Given the description of an element on the screen output the (x, y) to click on. 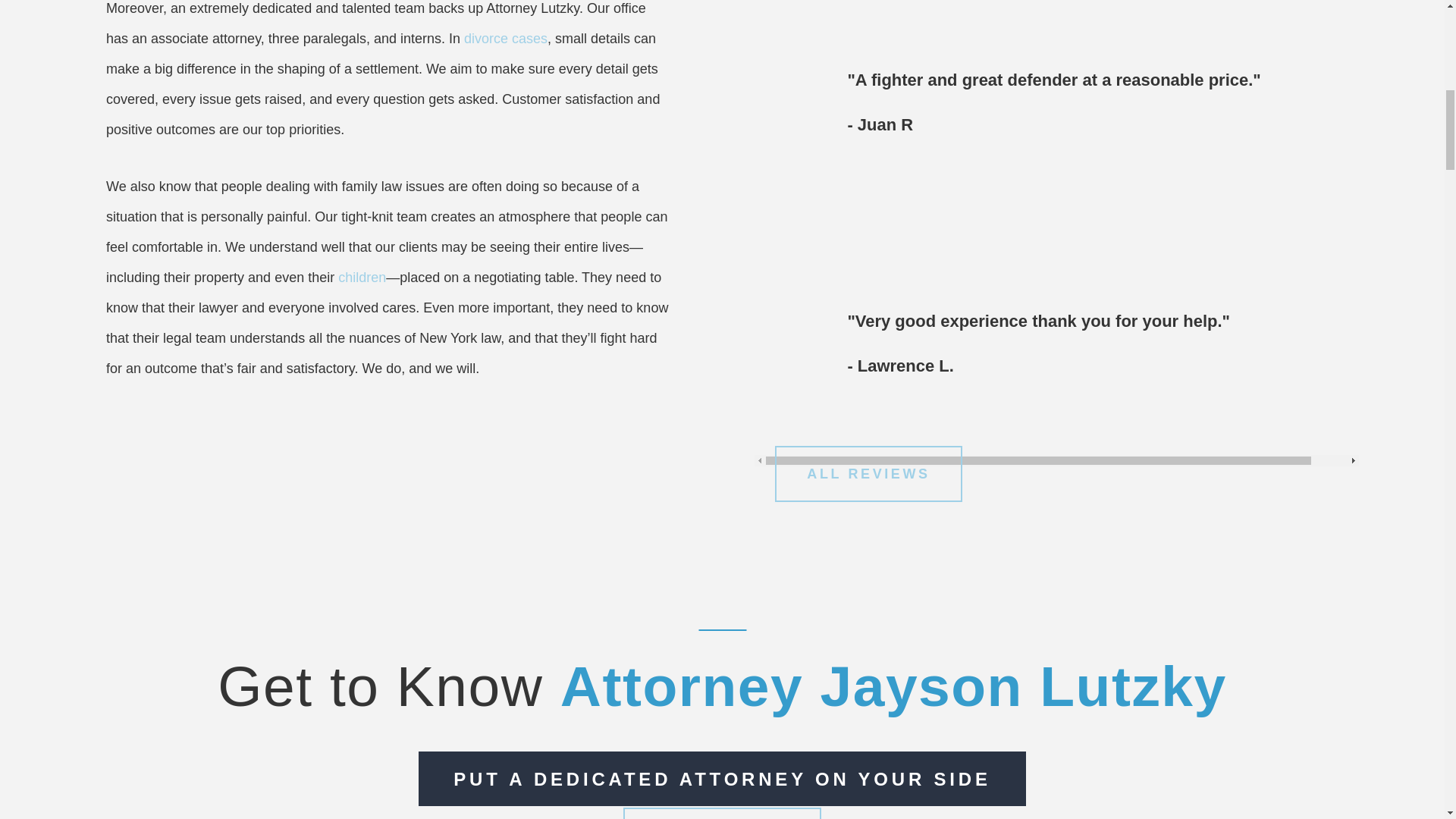
divorce cases (505, 38)
ALL REVIEWS (867, 473)
children (361, 277)
ATTORNEY BIO (722, 813)
